Given the description of an element on the screen output the (x, y) to click on. 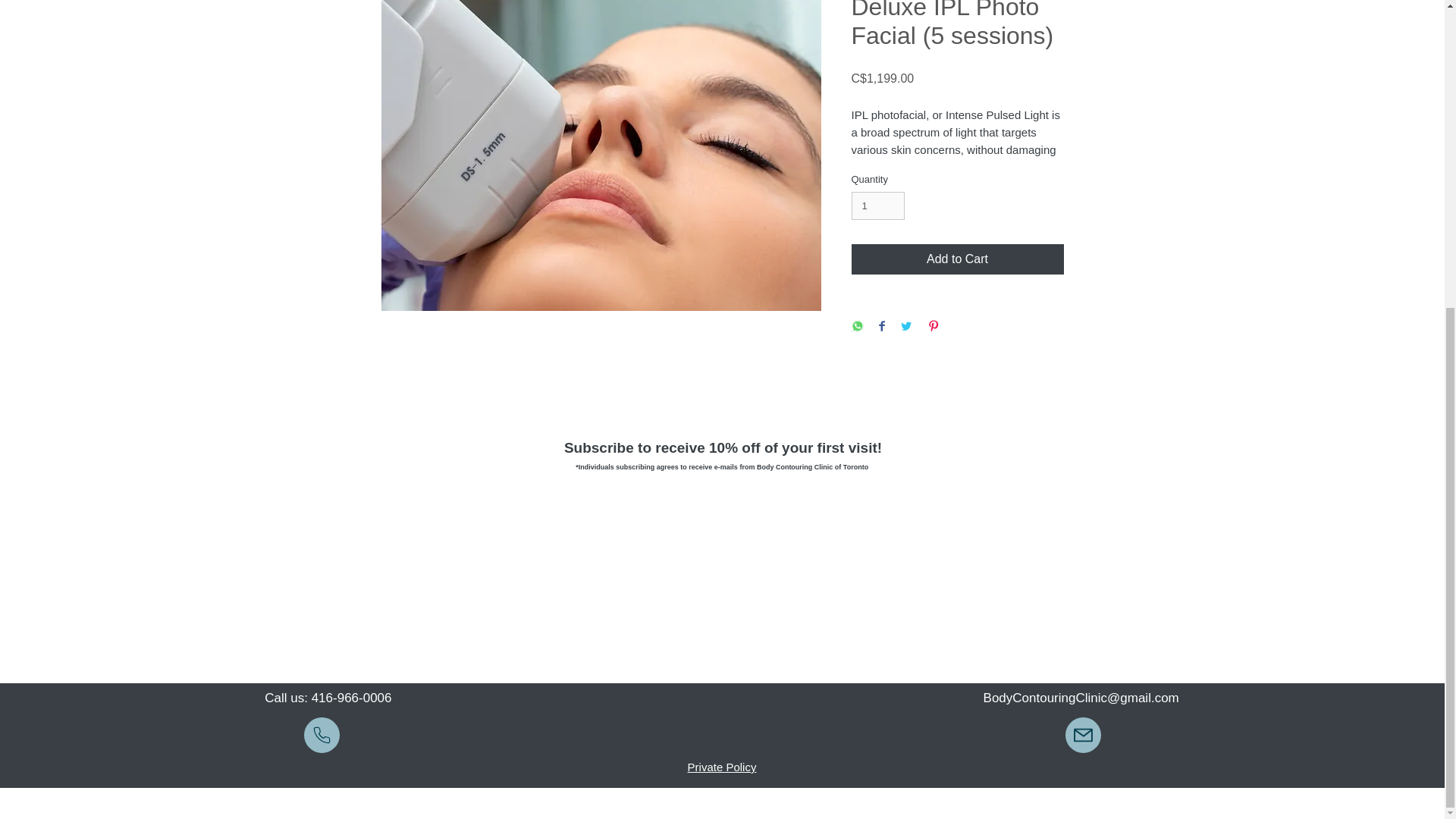
1 (877, 205)
Private Policy (722, 766)
Add to Cart (956, 259)
